Given the description of an element on the screen output the (x, y) to click on. 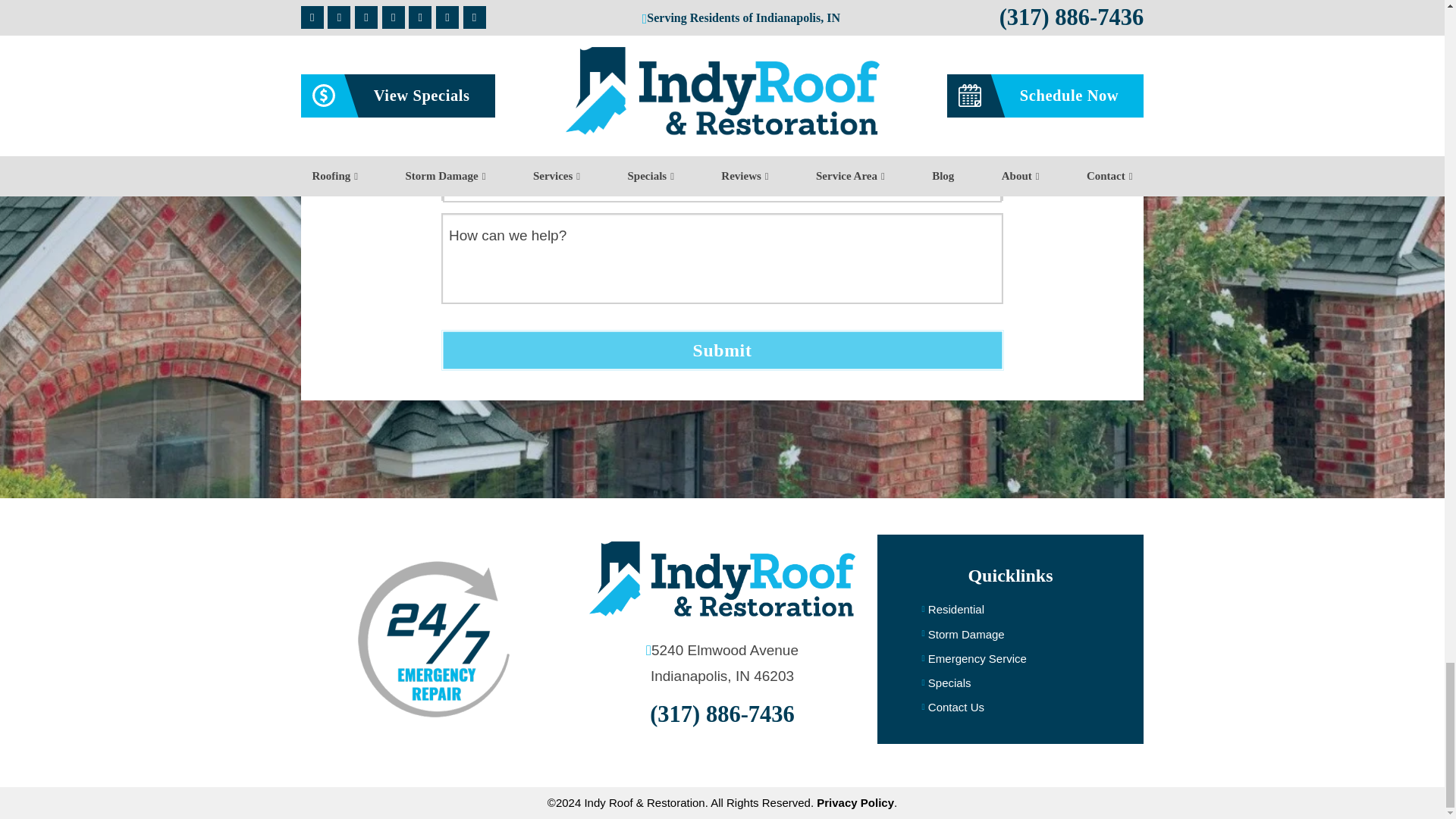
Are You a Returning Customer? (727, 180)
Street Address (722, 68)
State (579, 121)
